Given the description of an element on the screen output the (x, y) to click on. 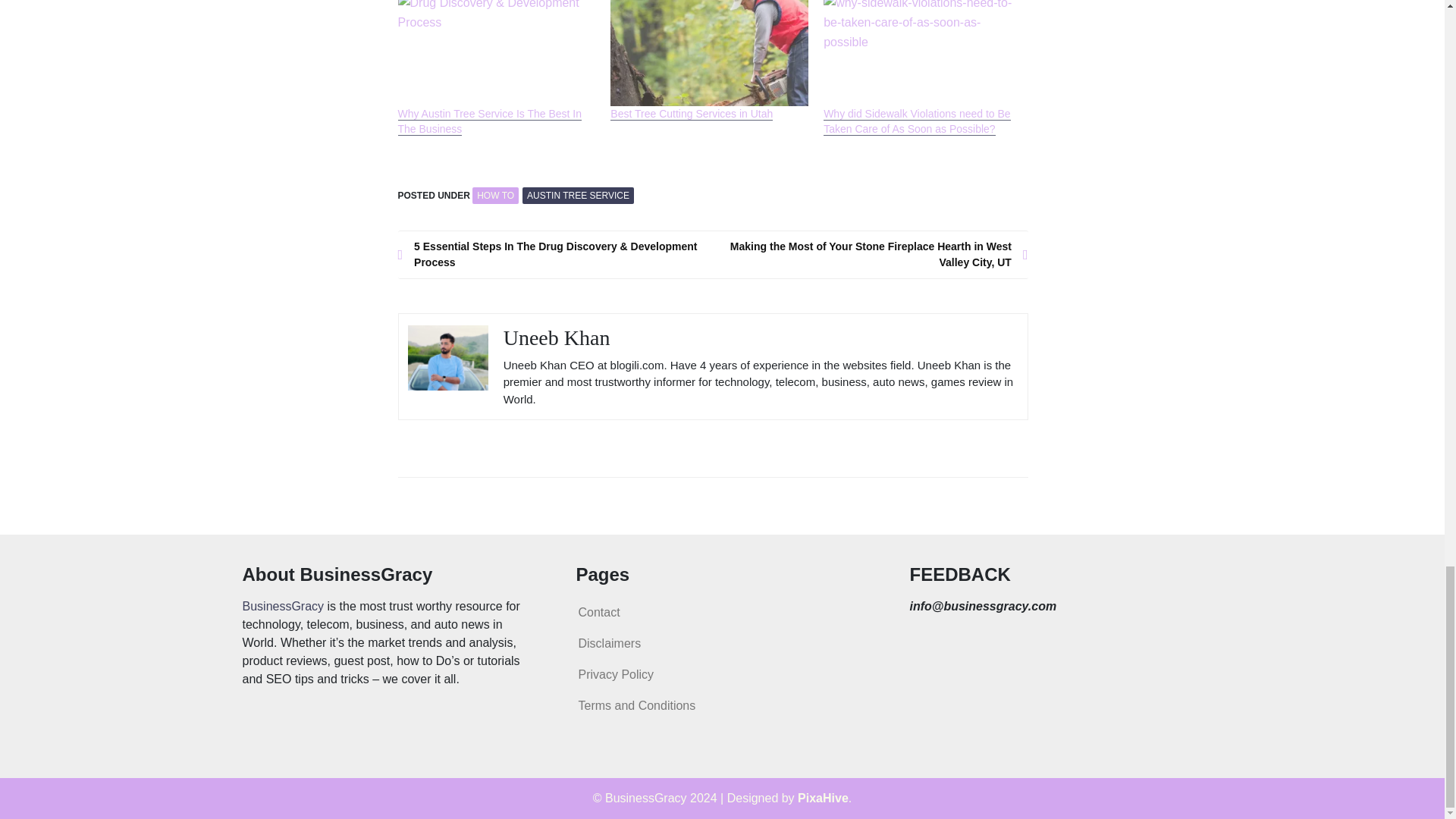
Why Austin Tree Service Is The Best In The Business (496, 53)
Best Tree Cutting Services in Utah (709, 53)
Best Tree Cutting Services in Utah (691, 113)
Why Austin Tree Service Is The Best In The Business (488, 121)
Why Austin Tree Service Is The Best In The Business (488, 121)
